Given the description of an element on the screen output the (x, y) to click on. 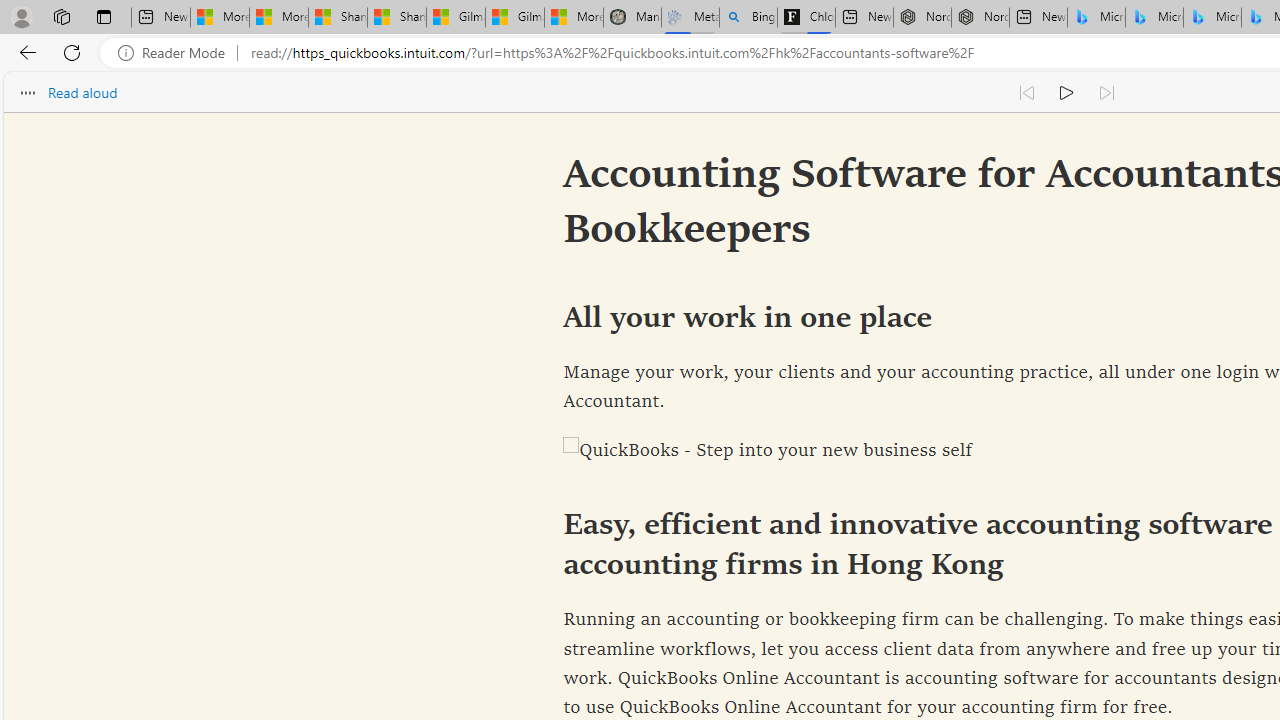
Continue to read aloud (Ctrl+Shift+U) (1065, 92)
Gilma and Hector both pose tropical trouble for Hawaii (514, 17)
Manatee Mortality Statistics | FWC (632, 17)
Bing Real Estate - Home sales and rental listings (747, 17)
Microsoft Bing Travel - Stays in Bangkok, Bangkok, Thailand (1154, 17)
Microsoft Bing Travel - Shangri-La Hotel Bangkok (1212, 17)
Reader Mode (177, 53)
Read next paragraph (1105, 92)
